Given the description of an element on the screen output the (x, y) to click on. 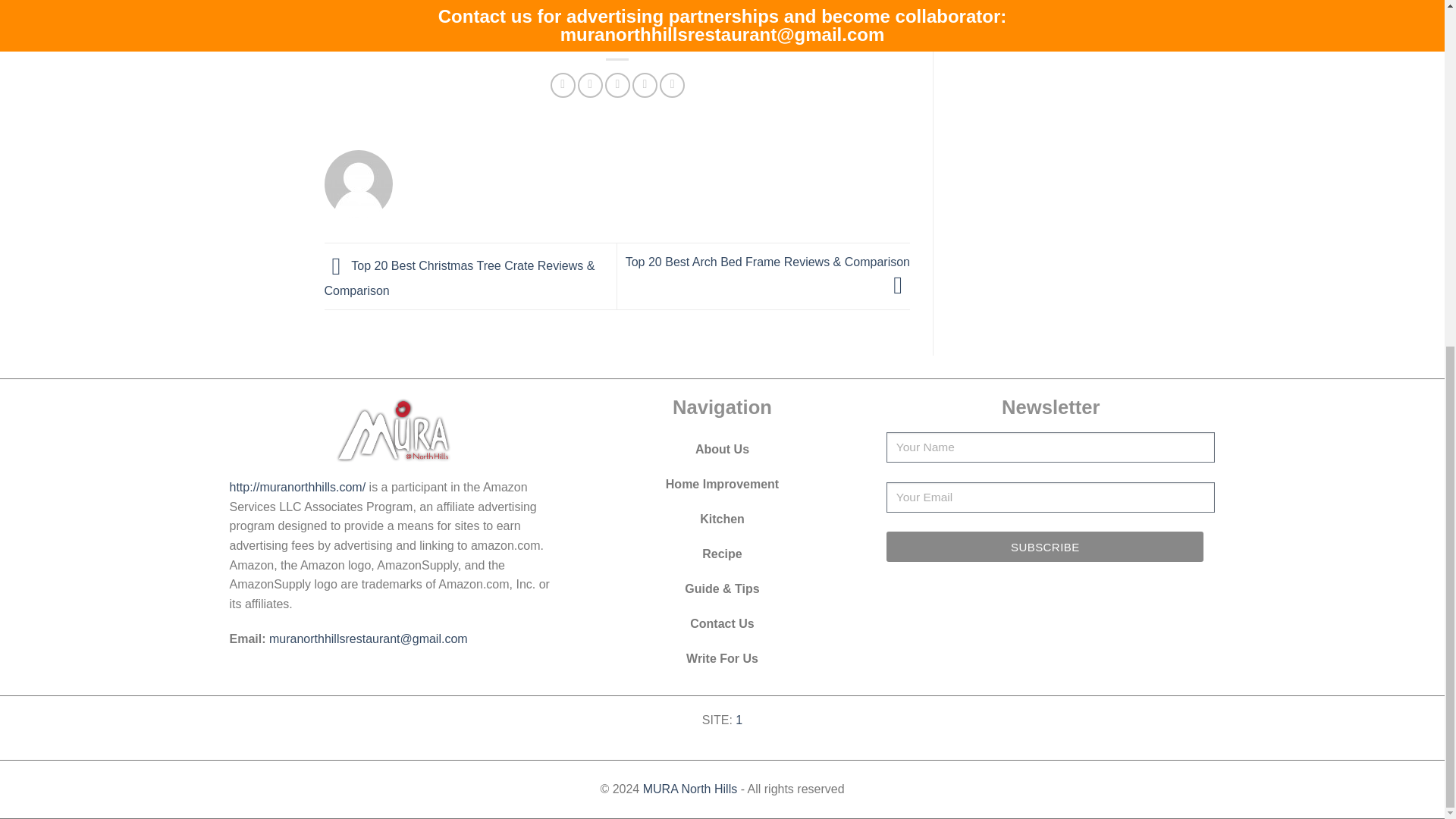
Pin on Pinterest (644, 84)
Share on LinkedIn (671, 84)
Share on Facebook (562, 84)
Share on Twitter (590, 84)
Email to a Friend (617, 84)
